Given the description of an element on the screen output the (x, y) to click on. 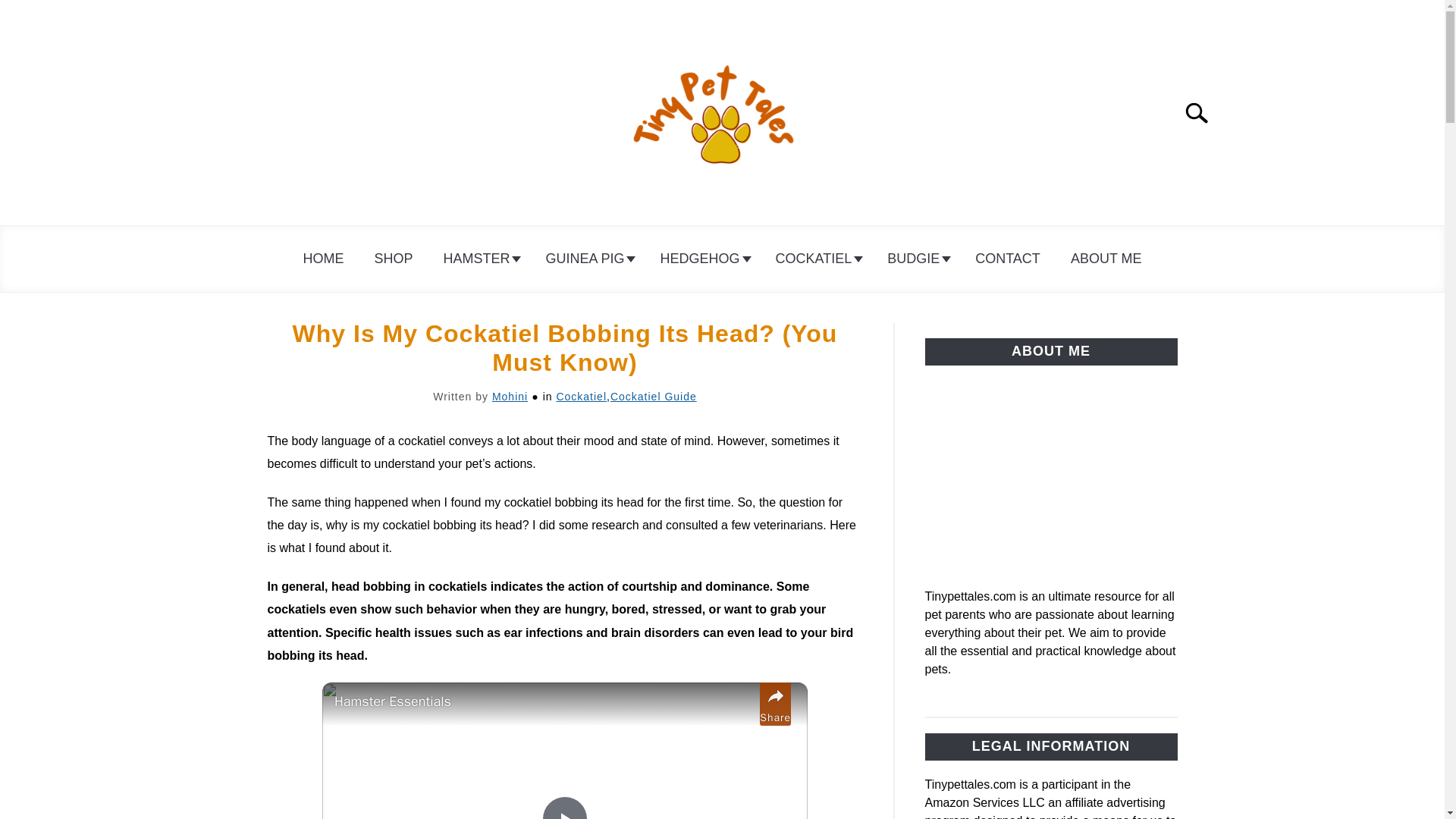
SHOP (393, 258)
GUINEA PIG (587, 258)
BUDGIE (915, 258)
Search (1203, 112)
HAMSTER (478, 258)
HOME (322, 258)
HEDGEHOG (702, 258)
Play Video (564, 807)
COCKATIEL (816, 258)
